Given the description of an element on the screen output the (x, y) to click on. 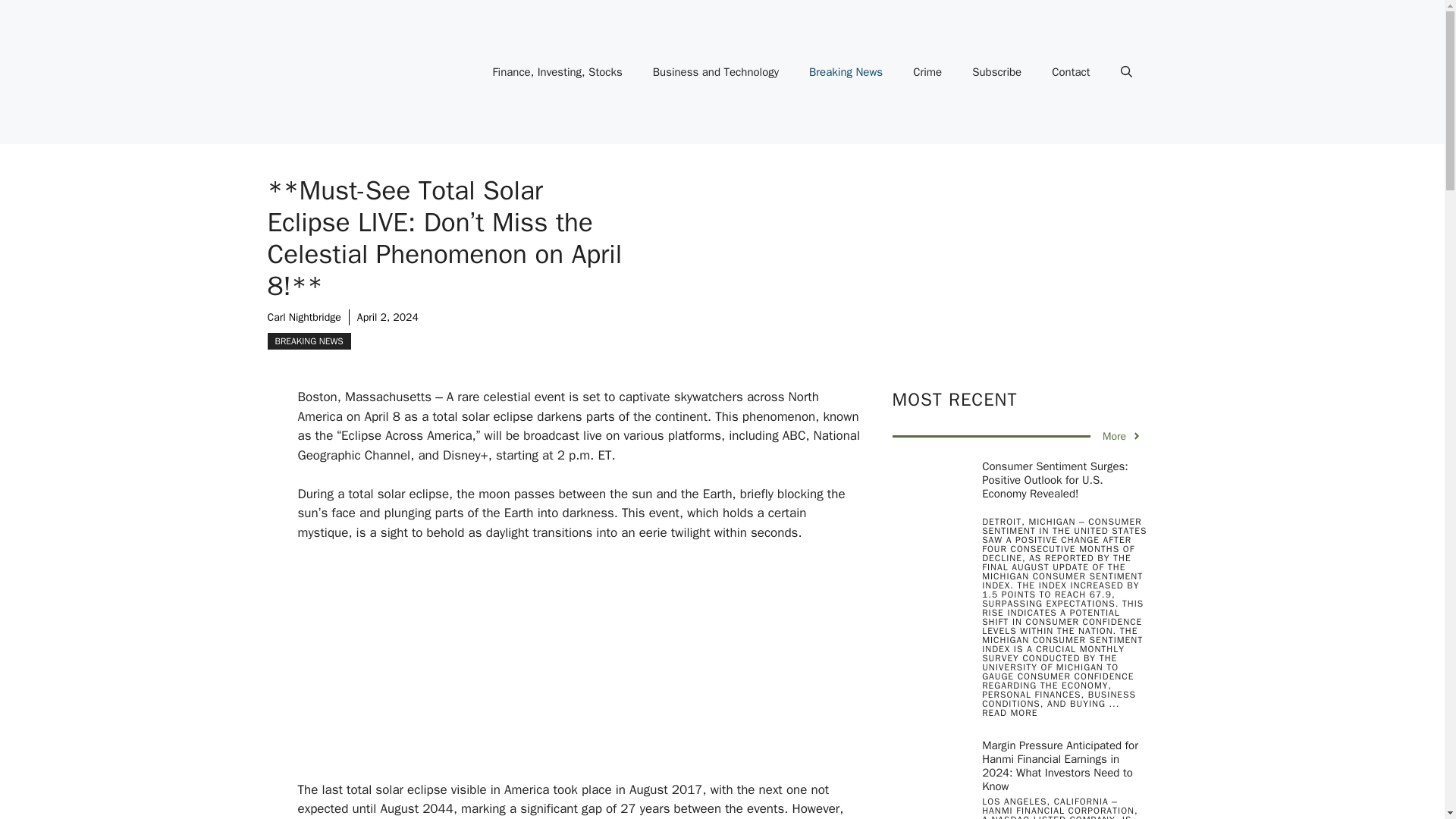
READ MORE (1008, 712)
Breaking News (845, 72)
Contact (1070, 72)
BREAKING NEWS (308, 340)
Subscribe (996, 72)
More (1121, 436)
Crime (927, 72)
Carl Nightbridge (303, 317)
Finance, Investing, Stocks (557, 72)
